Given the description of an element on the screen output the (x, y) to click on. 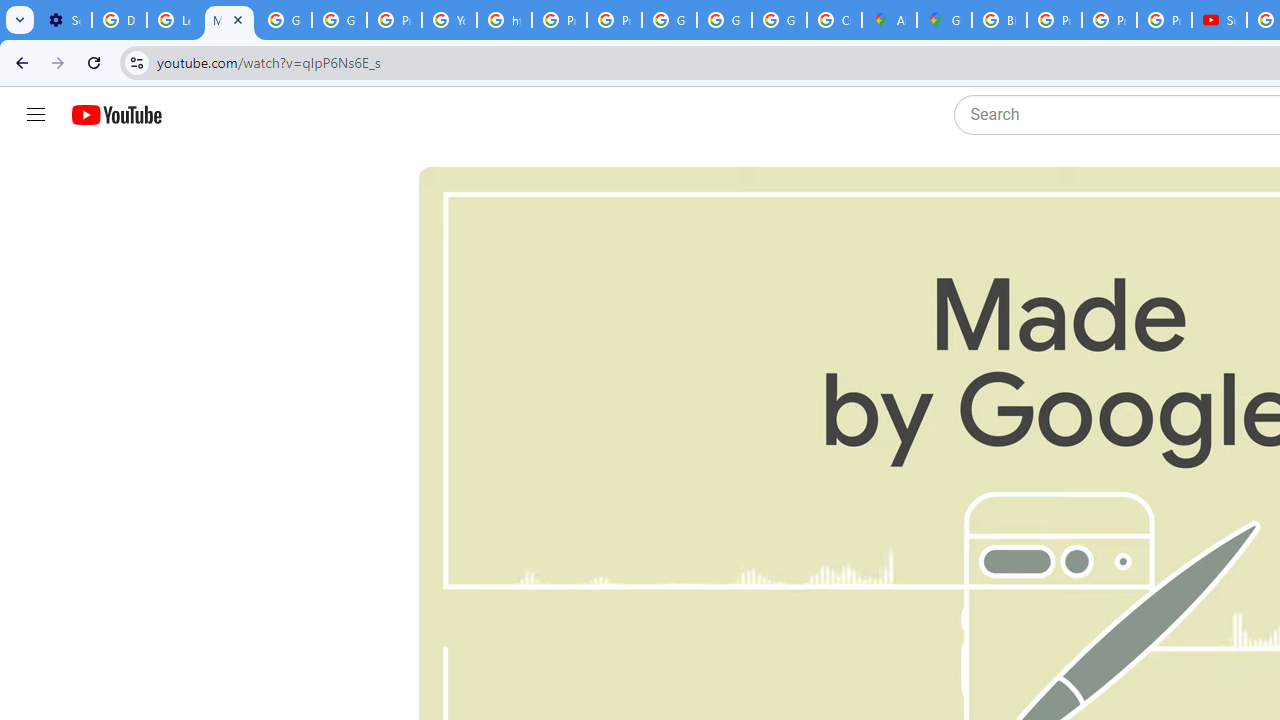
Privacy Help Center - Policies Help (1053, 20)
Google Maps (943, 20)
https://scholar.google.com/ (504, 20)
Guide (35, 115)
Blogger Policies and Guidelines - Transparency Center (998, 20)
YouTube Home (116, 115)
Privacy Help Center - Policies Help (1108, 20)
Google Account Help (284, 20)
